Given the description of an element on the screen output the (x, y) to click on. 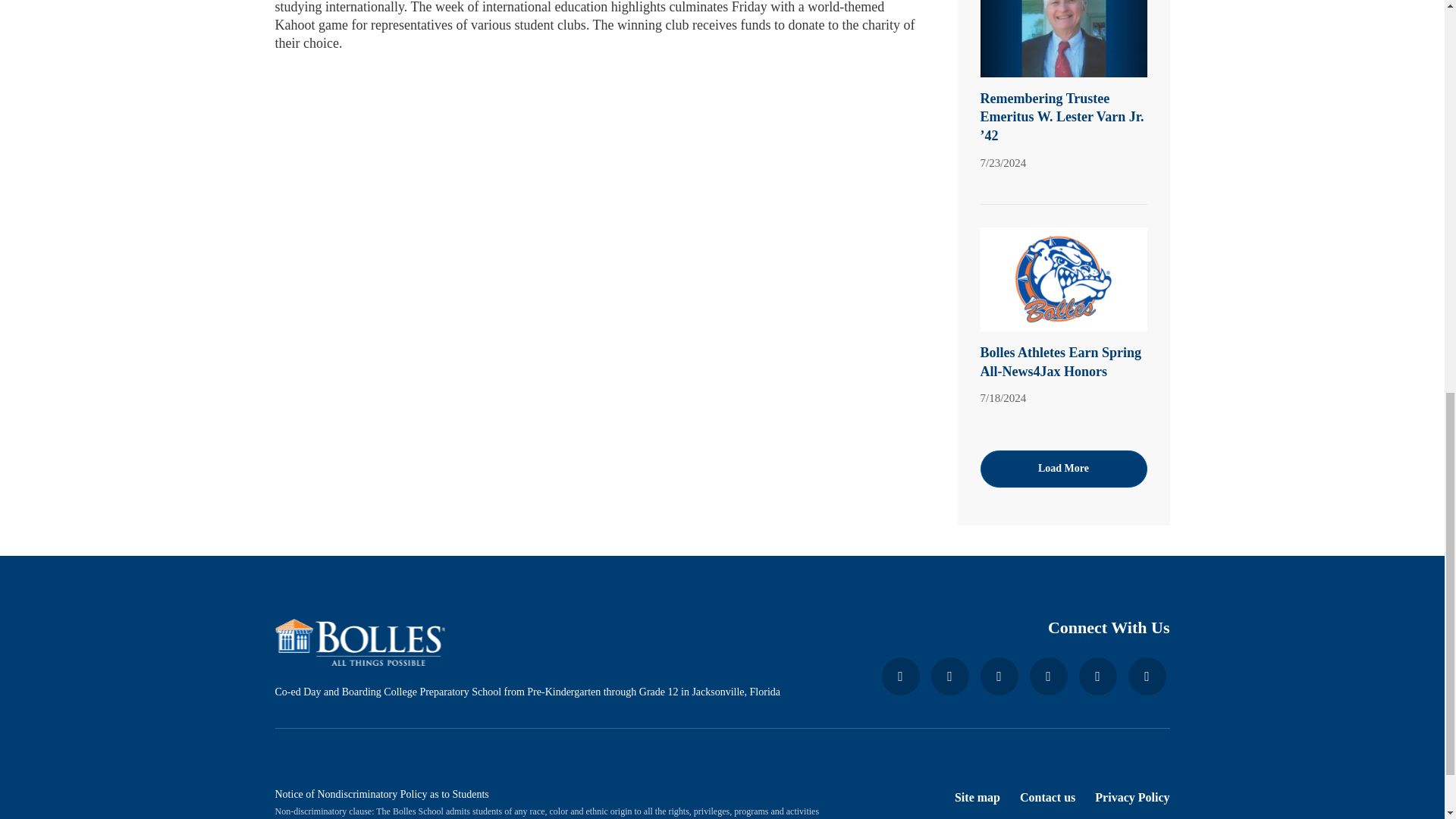
Bolles athletic logo (1063, 279)
man in suit and tie smiling (1063, 38)
